Given the description of an element on the screen output the (x, y) to click on. 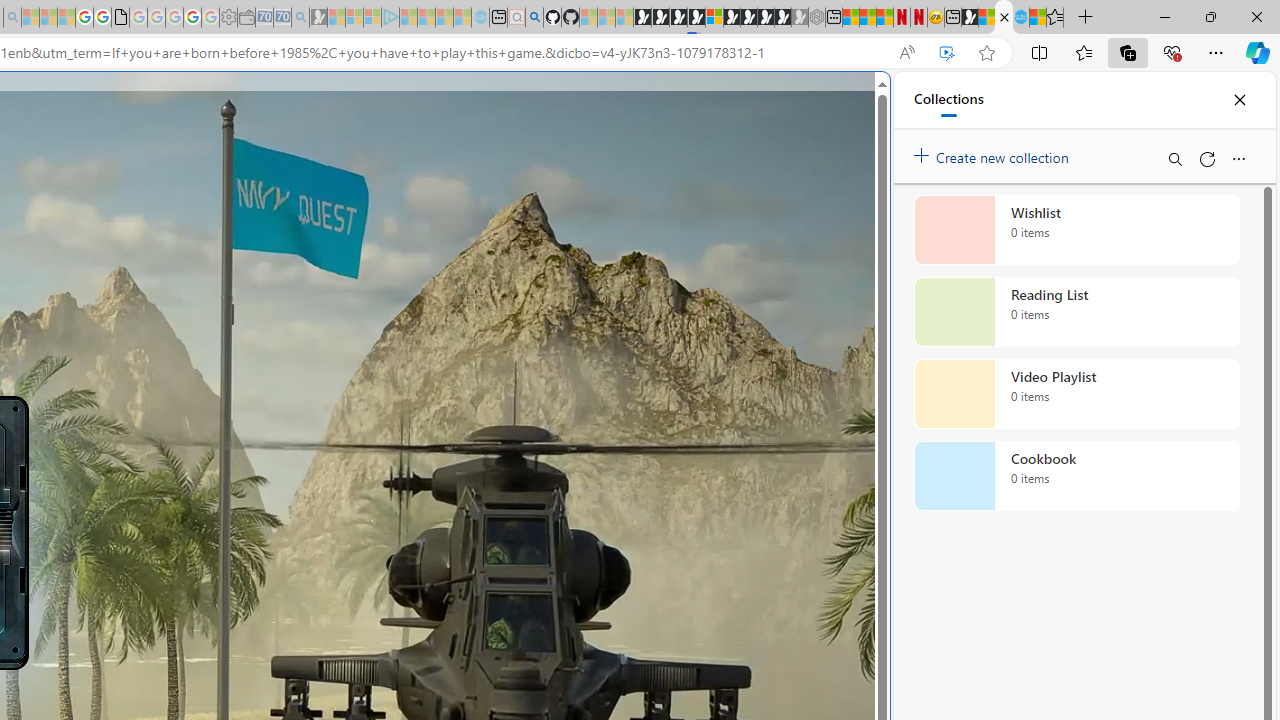
Create new collection (994, 153)
